Given the description of an element on the screen output the (x, y) to click on. 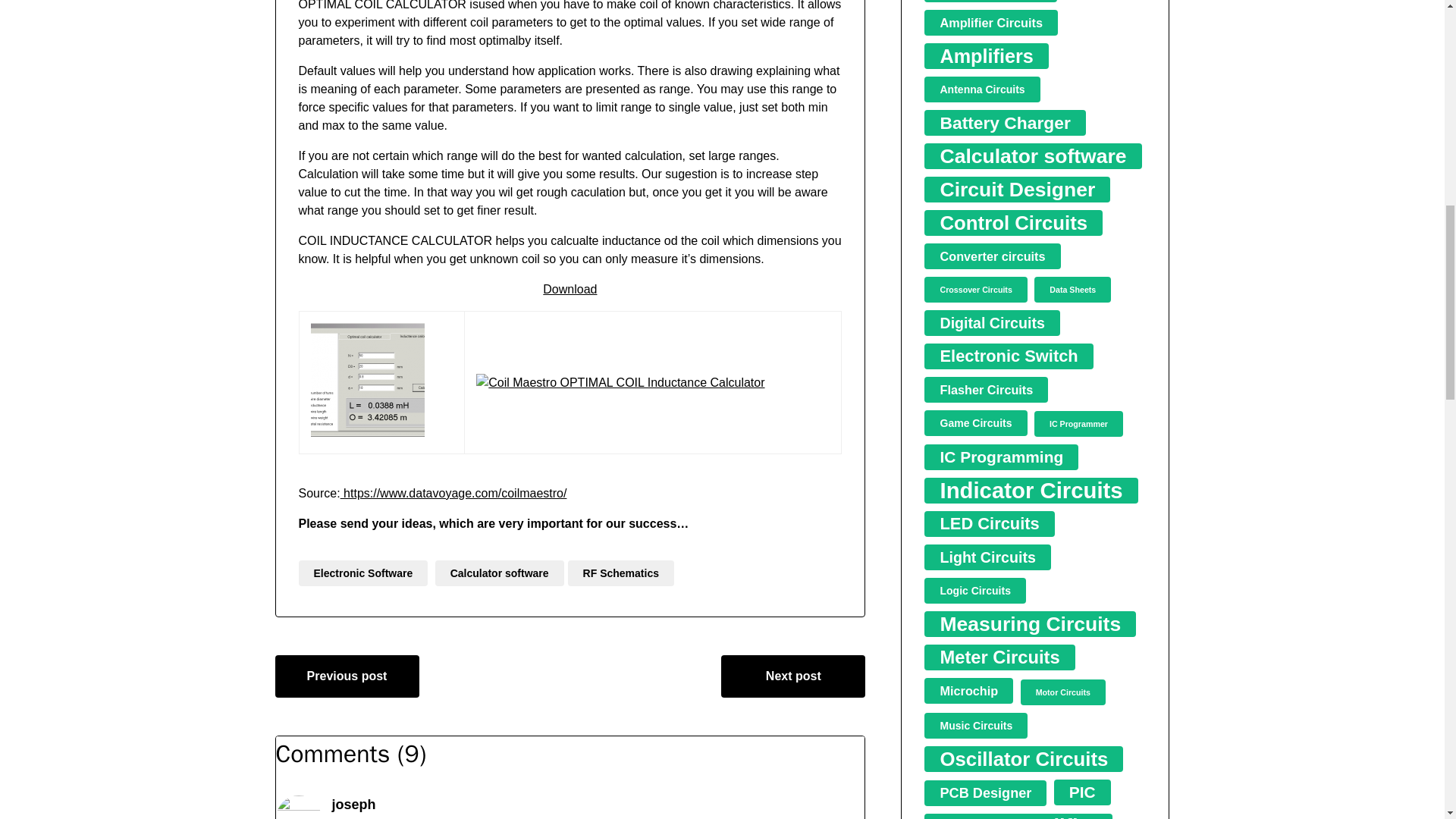
Next post (792, 676)
Coil Maestro OPTIMAL COIL Inductance Calculator (620, 382)
joseph (353, 804)
January 6, 2011 at 2:57 am (396, 817)
RF Schematics (620, 573)
Coil Maestro COIL Inductance Calculator Software (368, 379)
Calculator software (499, 573)
Electronic Software (363, 573)
Previous post (347, 676)
Download (569, 288)
